Given the description of an element on the screen output the (x, y) to click on. 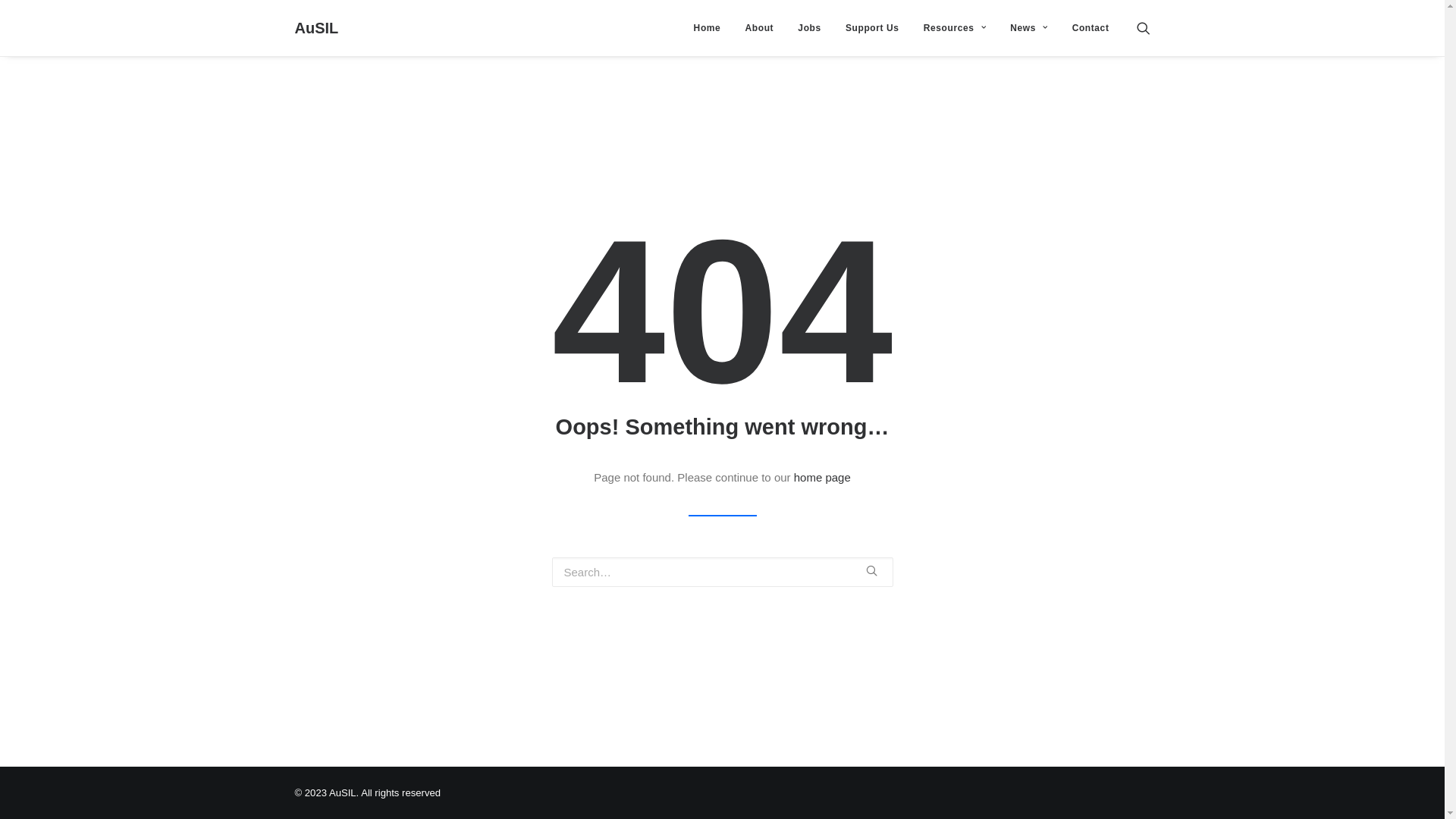
AuSIL Element type: text (316, 27)
Search for: Element type: hover (722, 571)
home page Element type: text (821, 476)
Home Element type: text (707, 28)
Jobs Element type: text (809, 28)
Resources Element type: text (954, 28)
About Element type: text (759, 28)
Contact Element type: text (1085, 28)
News Element type: text (1028, 28)
Support Us Element type: text (872, 28)
